Given the description of an element on the screen output the (x, y) to click on. 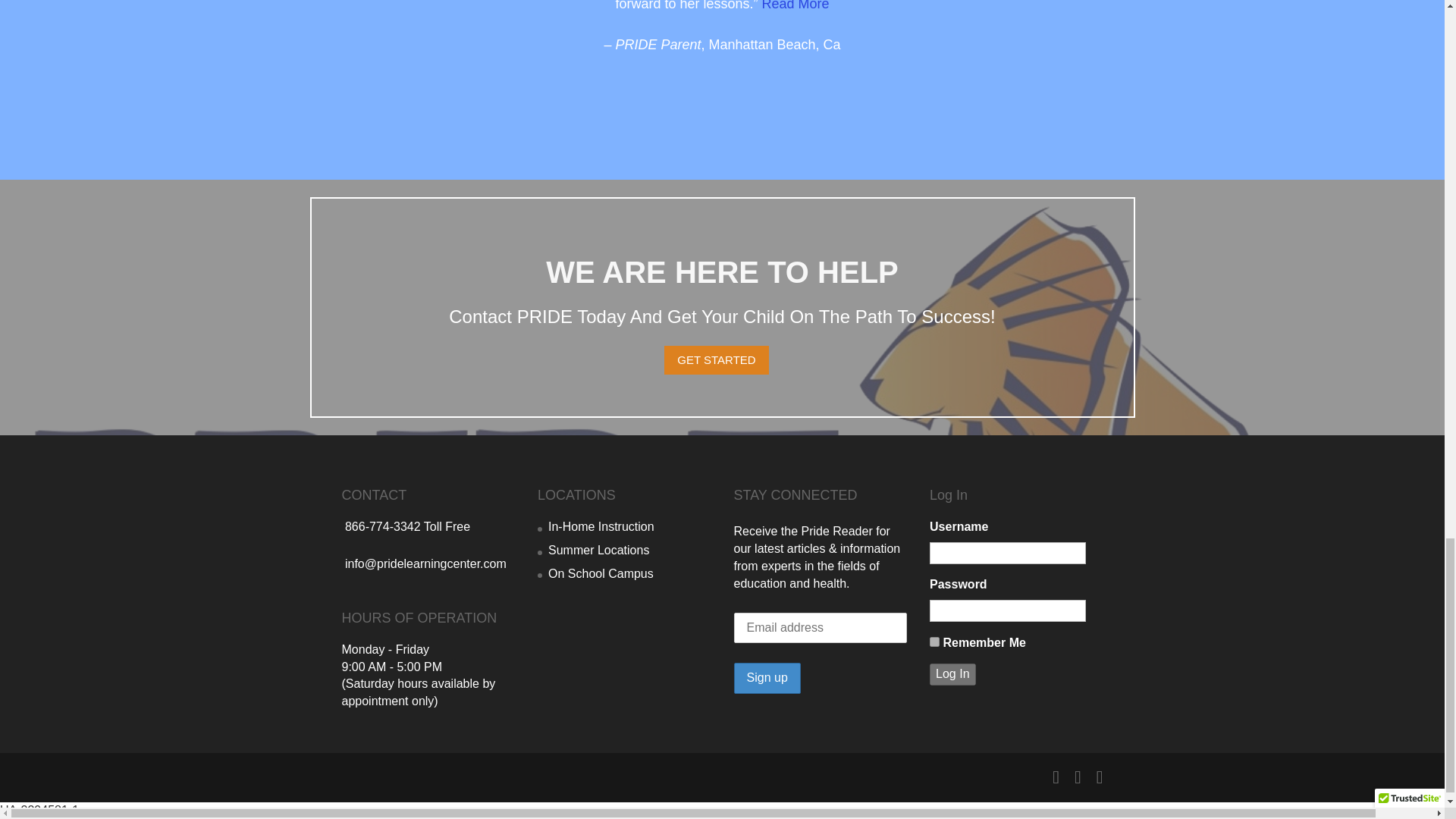
Sign up (766, 677)
forever (934, 642)
